Given the description of an element on the screen output the (x, y) to click on. 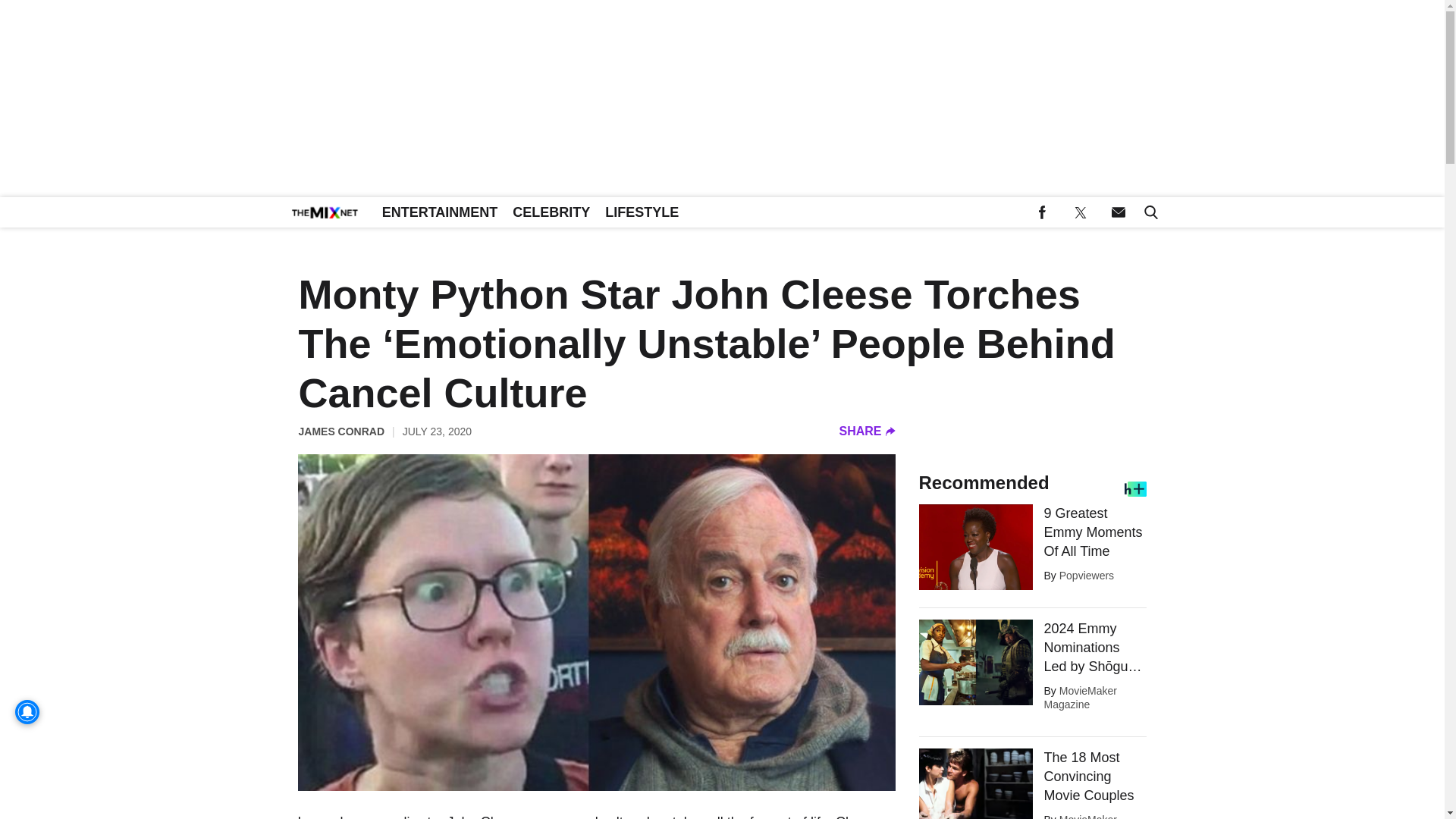
Posts by James Conrad (341, 431)
JAMES CONRAD (341, 431)
CELEBRITY (550, 212)
Follow us on Facebook (1042, 212)
Follow us on Twitter (1080, 212)
Send us an email (1118, 212)
LIFESTYLE (640, 212)
ENTERTAINMENT (439, 212)
